Given the description of an element on the screen output the (x, y) to click on. 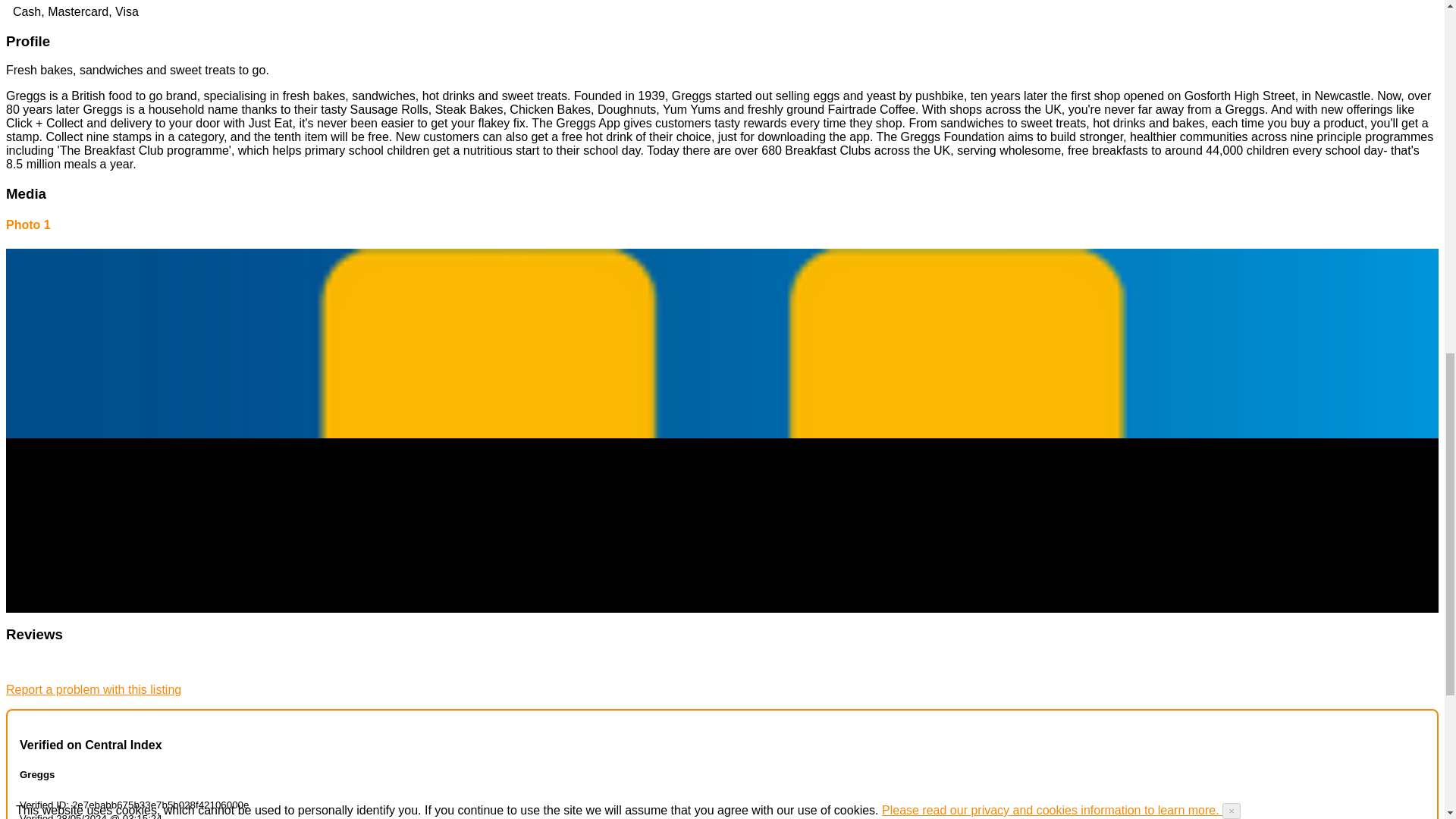
Report a problem with this listing (92, 689)
Photo 1 (27, 224)
Leave a review (46, 663)
